Given the description of an element on the screen output the (x, y) to click on. 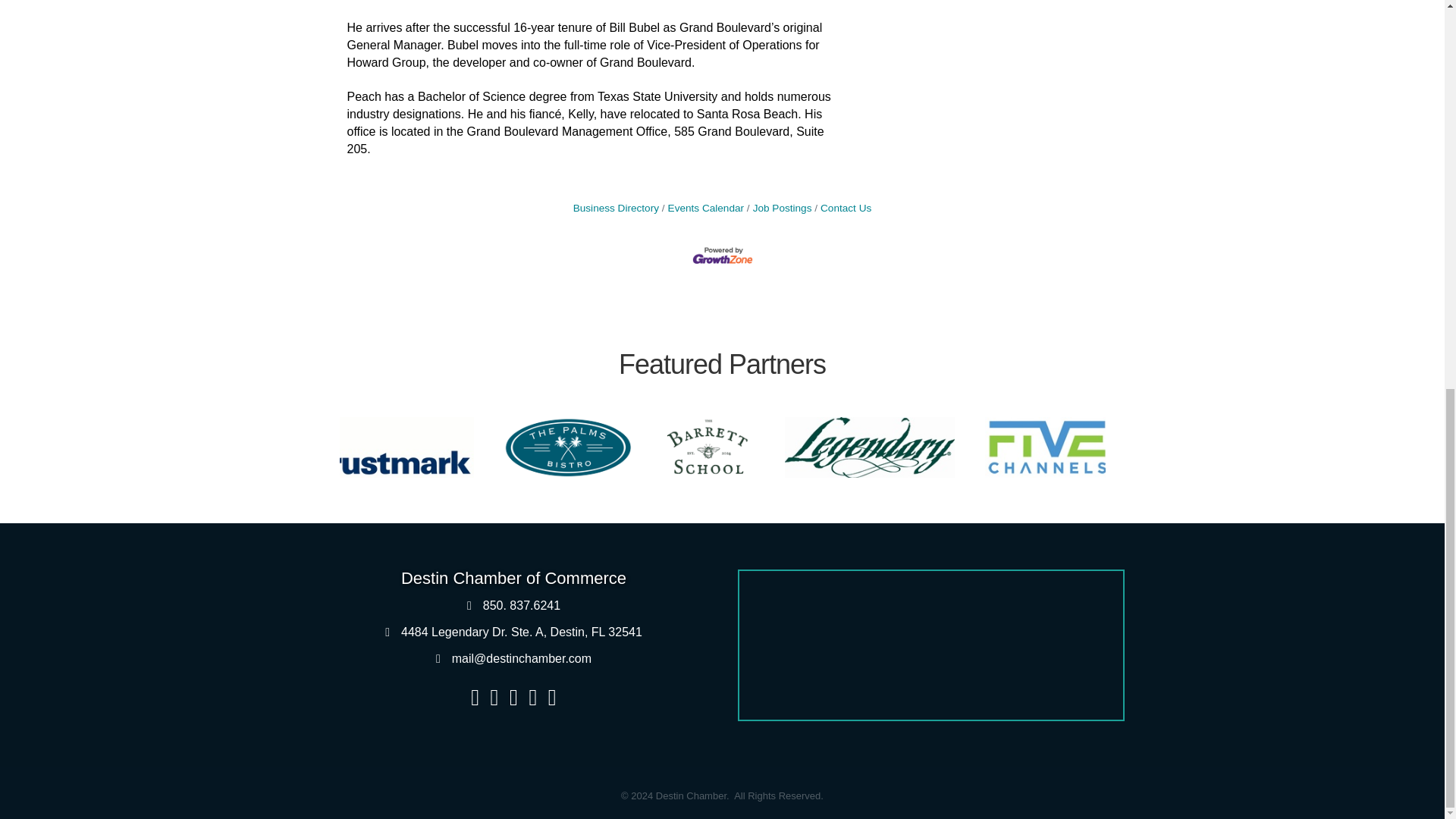
destin florida map (930, 645)
